Given the description of an element on the screen output the (x, y) to click on. 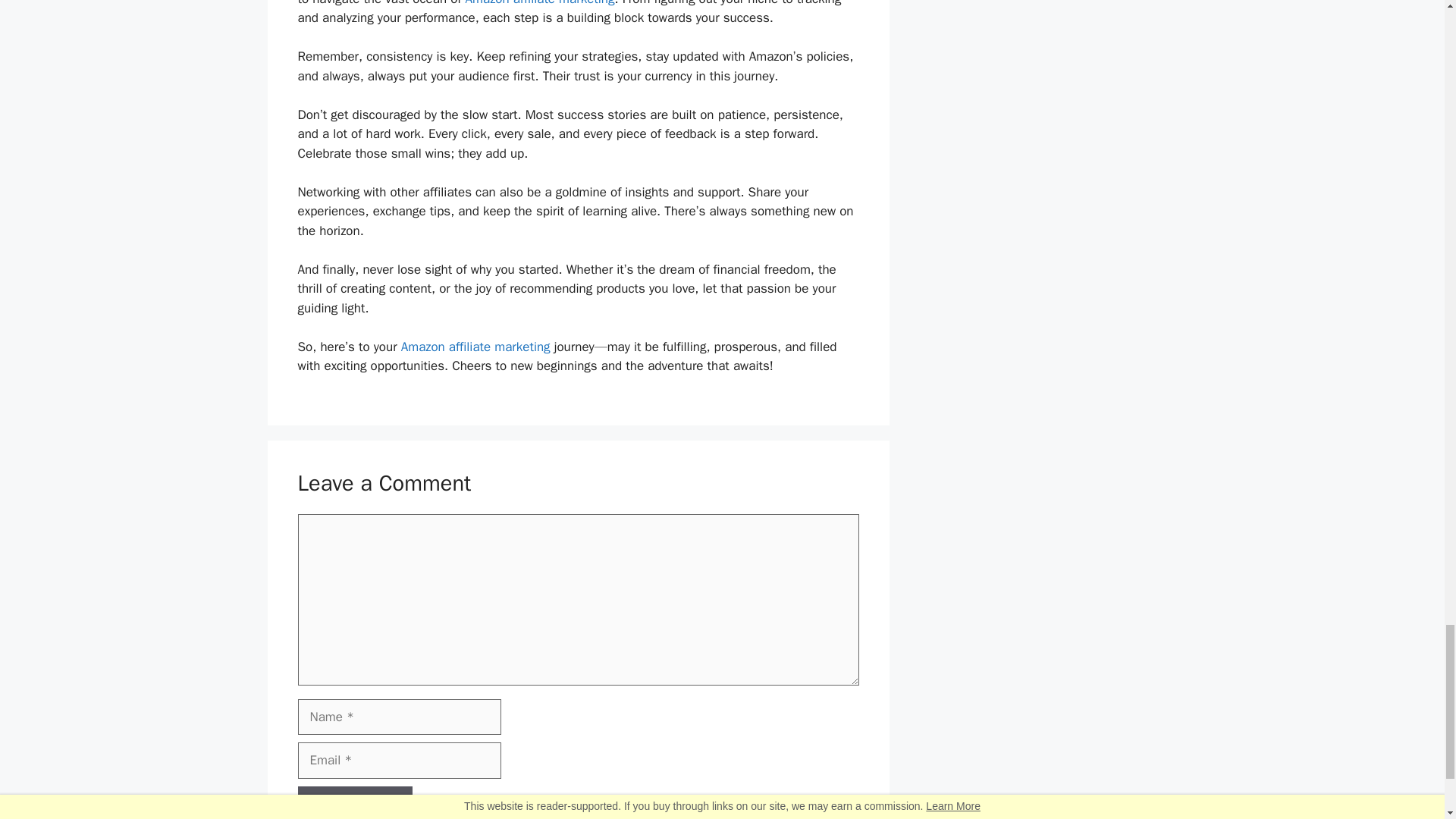
Amazon affiliate marketing (475, 346)
Amazon affiliate marketing (539, 3)
Post Comment (354, 802)
Post Comment (354, 802)
